Given the description of an element on the screen output the (x, y) to click on. 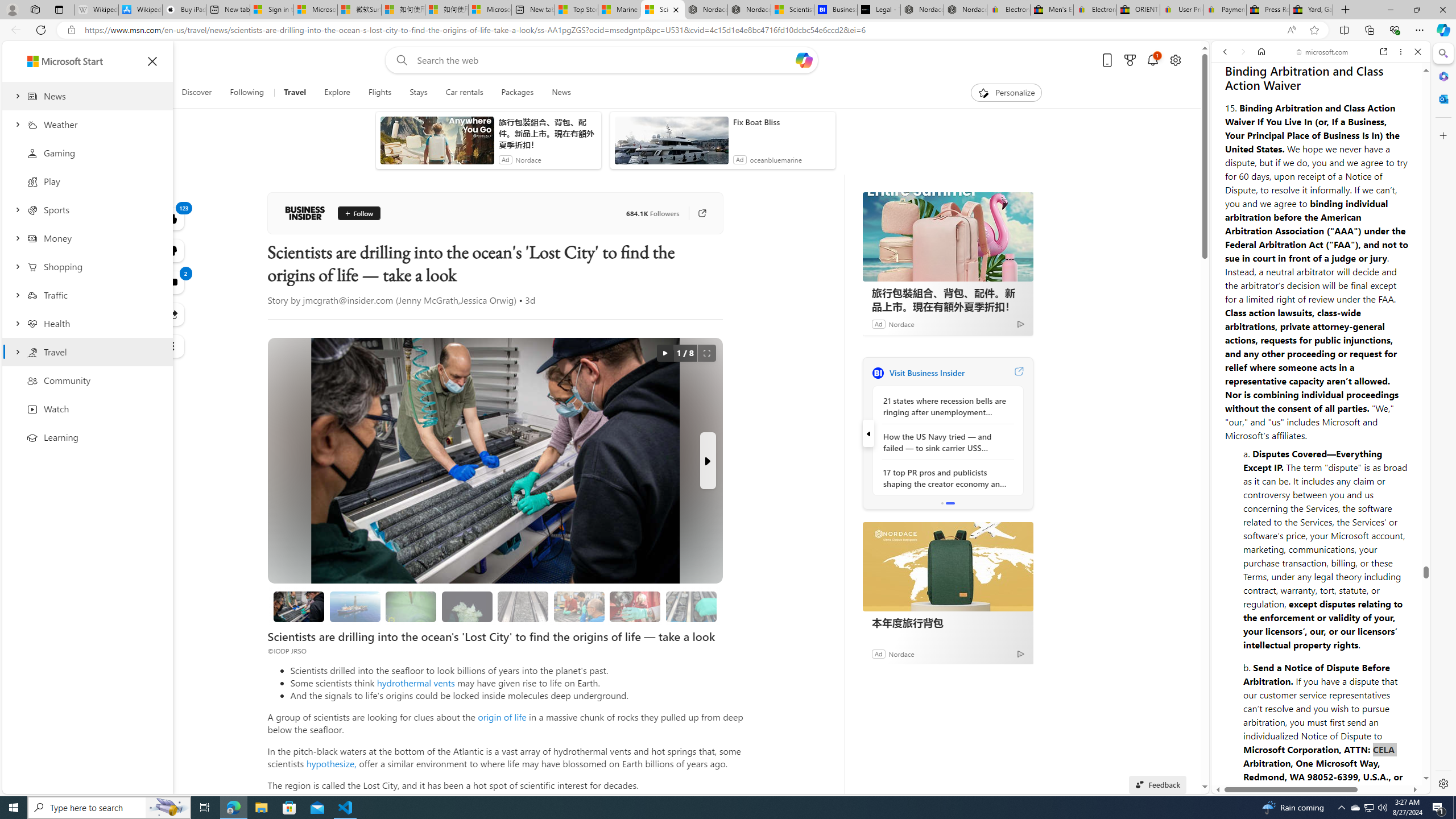
Explore (337, 92)
Follow (358, 213)
origin of life (502, 716)
oceanbluemarine (775, 159)
Business Insider (877, 372)
